Given the description of an element on the screen output the (x, y) to click on. 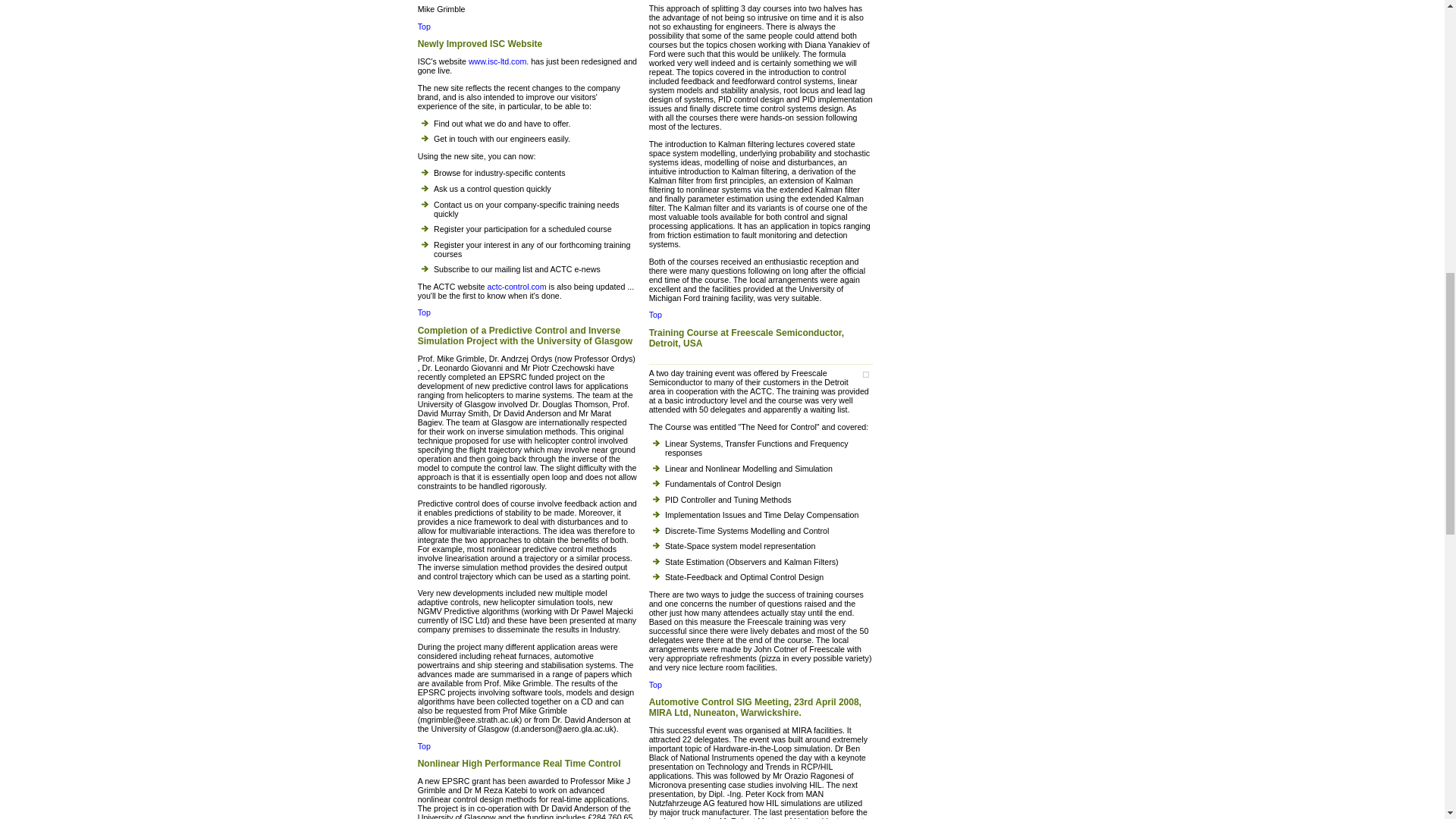
Newly Improved ISC Website (527, 45)
actc-control.com (516, 286)
Top (423, 311)
Top (423, 26)
www.isc-ltd.com. (498, 61)
